Given the description of an element on the screen output the (x, y) to click on. 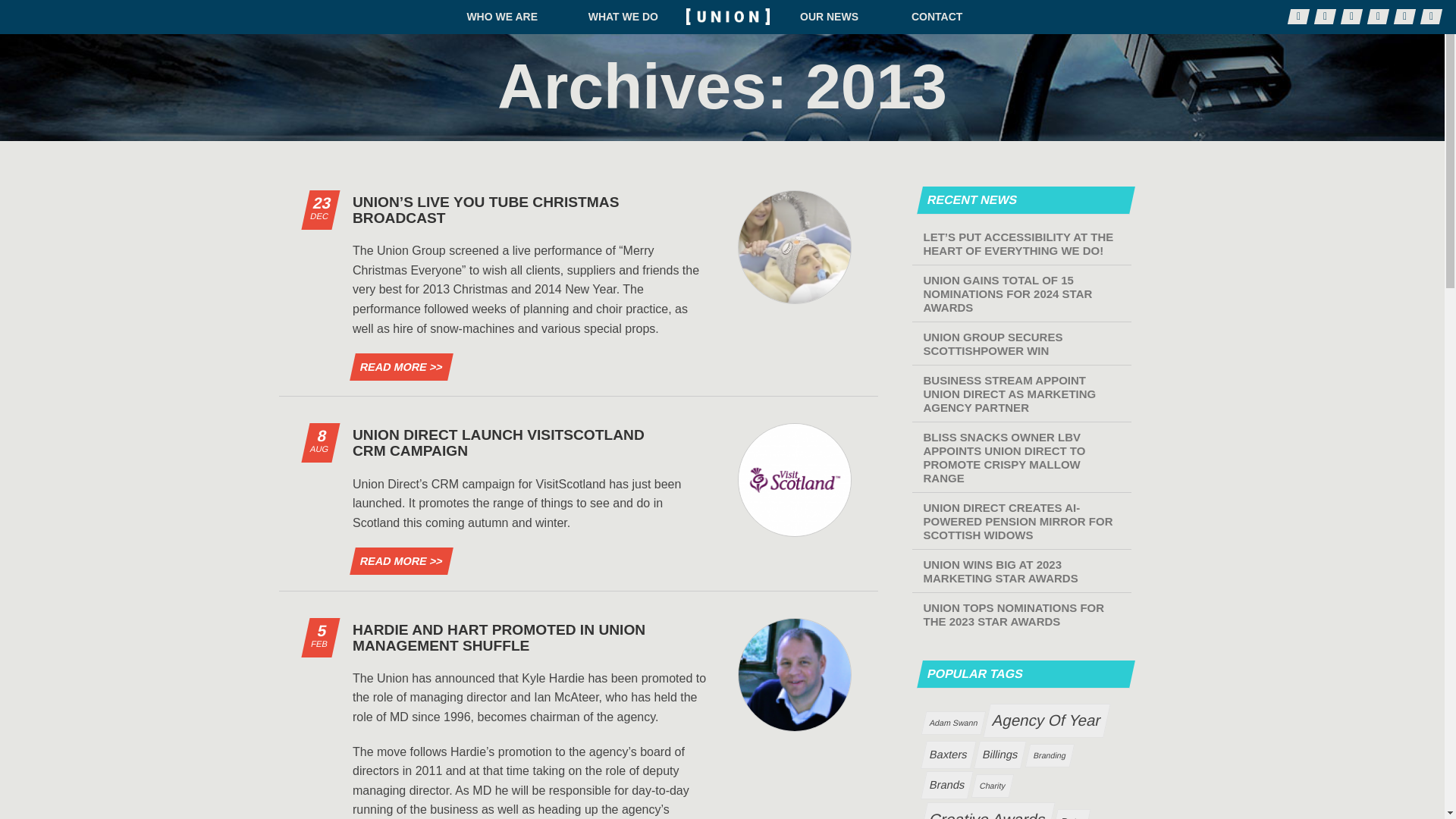
FACEBOOK (1296, 16)
OUR NEWS (829, 17)
Read more (397, 366)
LINKEDIN (1349, 16)
UNION DIRECT LAUNCH VISITSCOTLAND CRM CAMPAIGN (498, 442)
Read more (397, 560)
WHO WE ARE (501, 17)
WHAT WE DO (623, 17)
CONTACT (936, 17)
TWITTER (1323, 16)
INSTAGRAM (1430, 16)
HARDIE AND HART PROMOTED IN UNION MANAGEMENT SHUFFLE (498, 637)
PINTEREST (1376, 16)
YOUTUBE (1402, 16)
